Given the description of an element on the screen output the (x, y) to click on. 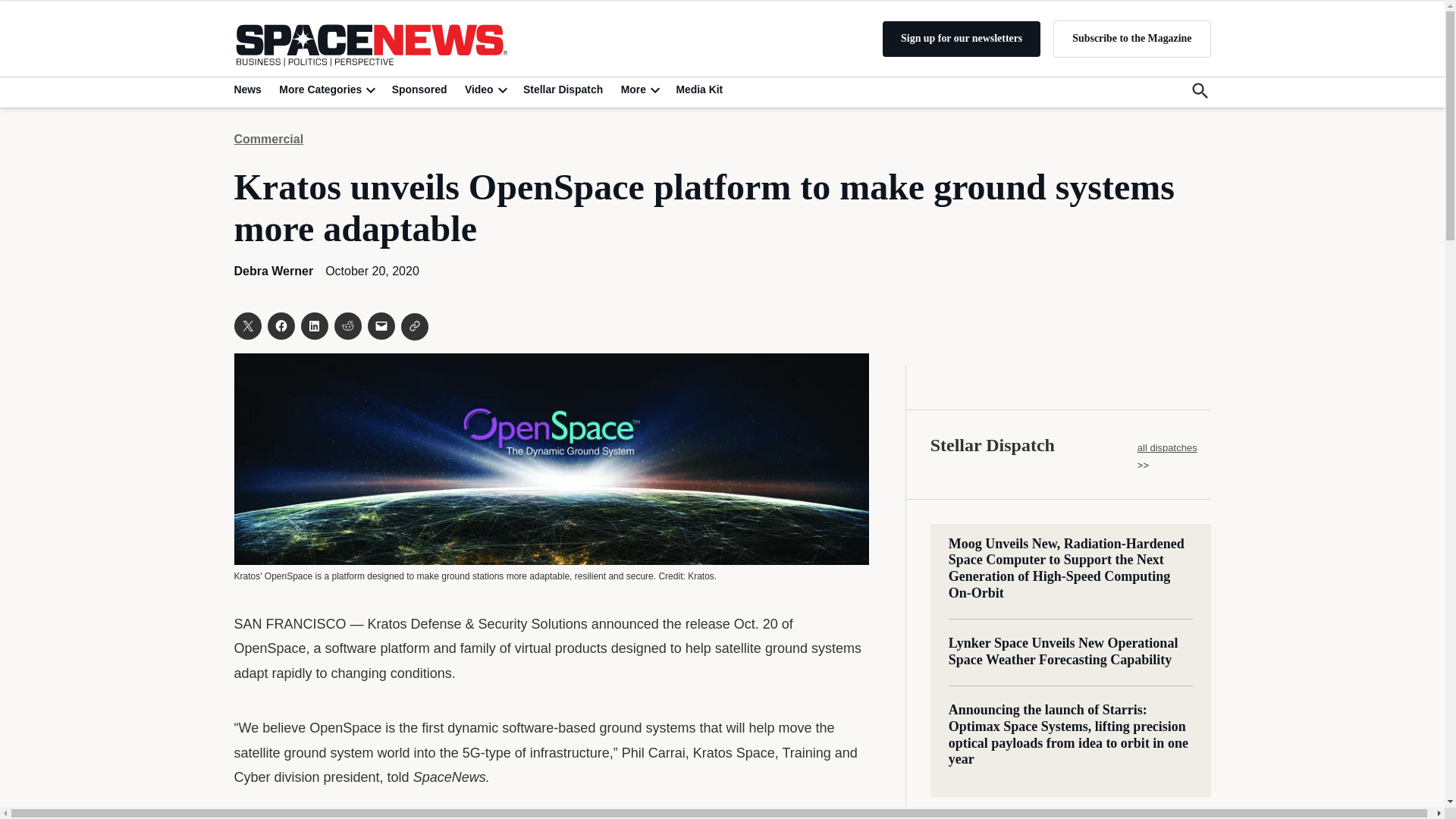
Click to share on Clipboard (414, 326)
Click to share on Reddit (347, 325)
Subscribe to the Magazine (1130, 38)
Click to share on Facebook (280, 325)
Click to share on X (246, 325)
Sign up for our newsletters (961, 38)
Click to share on LinkedIn (313, 325)
Click to email a link to a friend (380, 325)
